Given the description of an element on the screen output the (x, y) to click on. 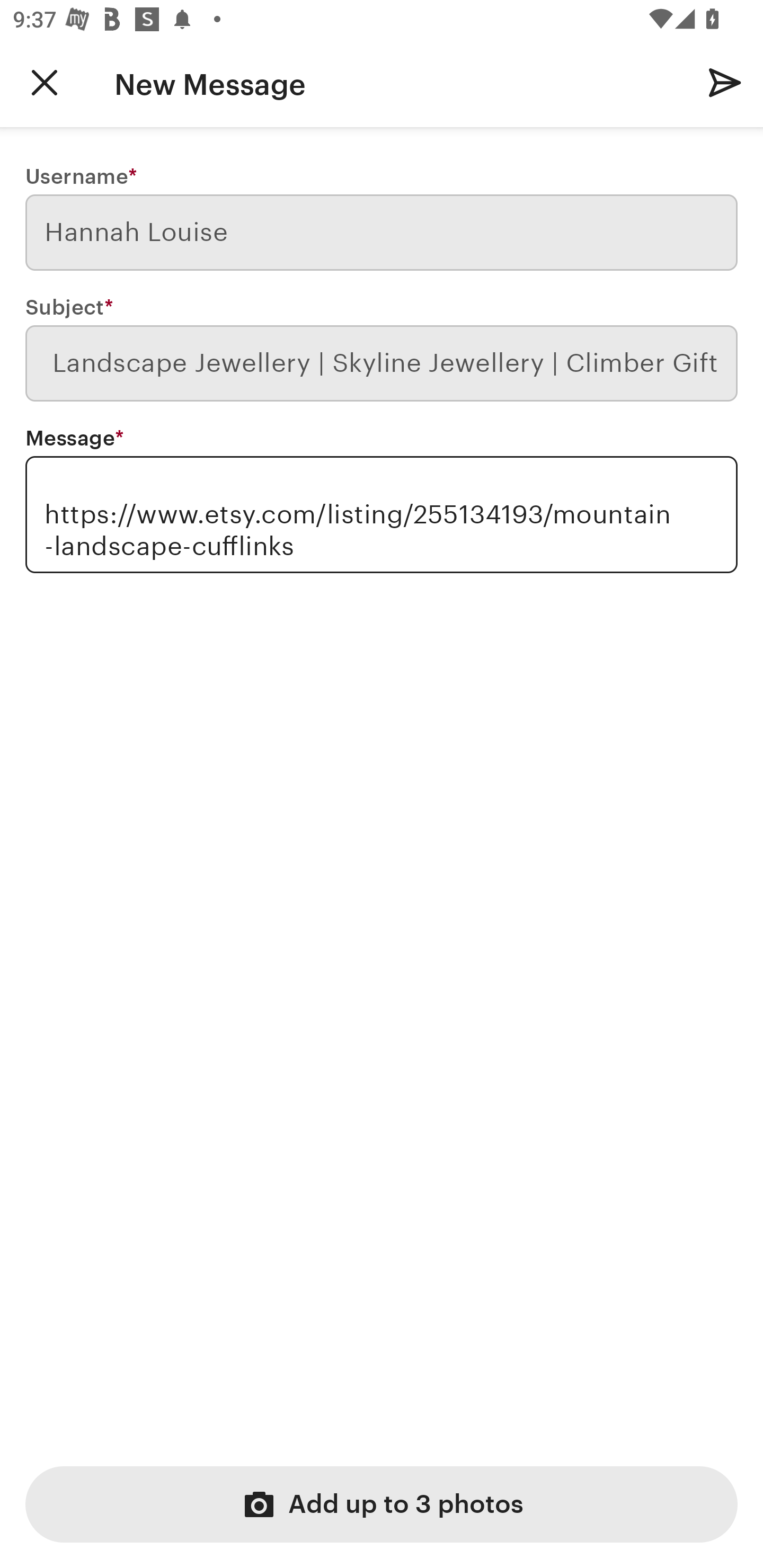
Navigate up (44, 81)
Hannah Louise (381, 232)
Add up to 3 photos (381, 1504)
